Given the description of an element on the screen output the (x, y) to click on. 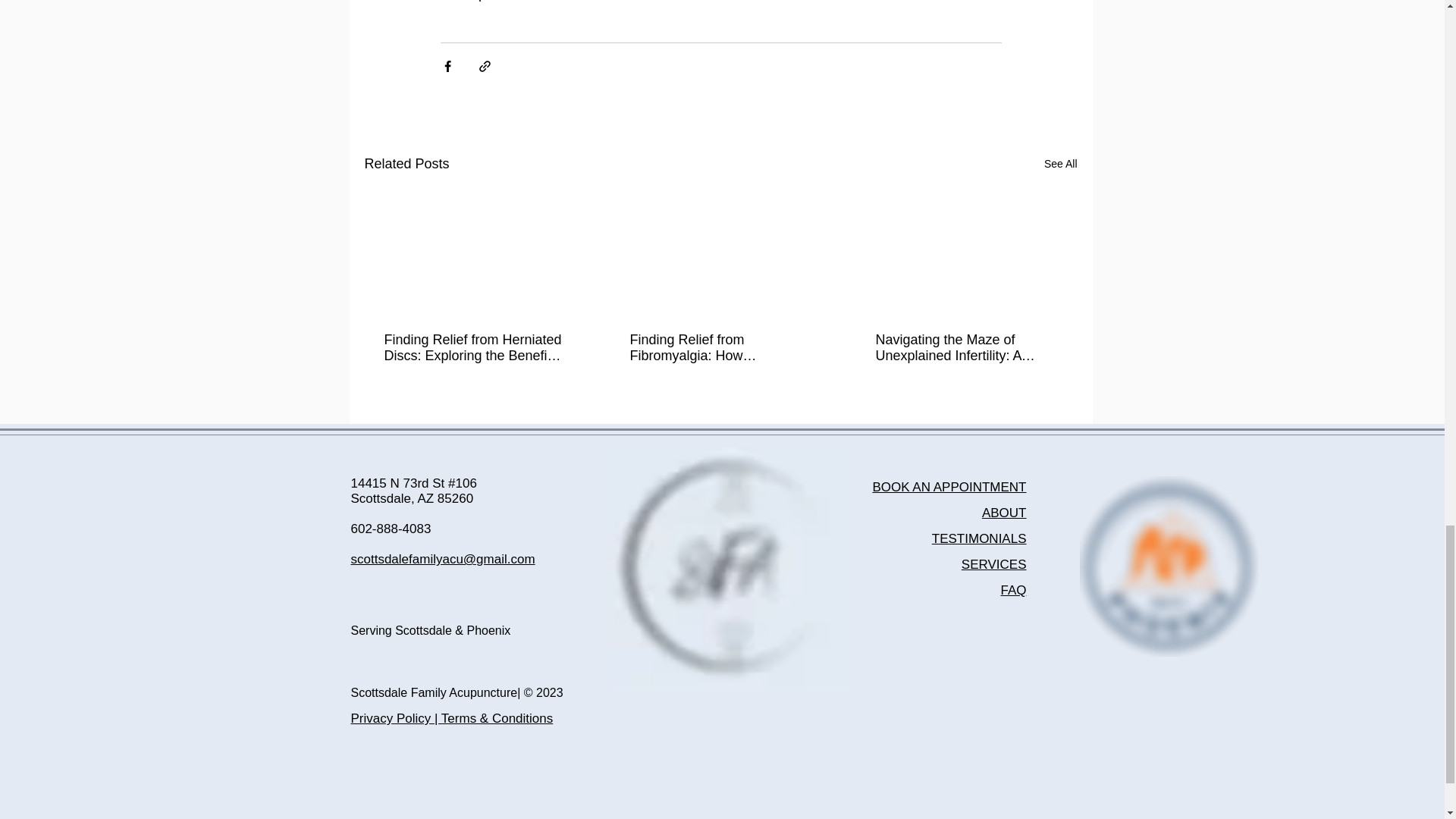
SERVICES (993, 564)
TESTIMONIALS (978, 538)
BOOK AN APPOINTMENT (949, 486)
ABOUT (1003, 513)
FAQ (1013, 590)
See All (1060, 164)
